Given the description of an element on the screen output the (x, y) to click on. 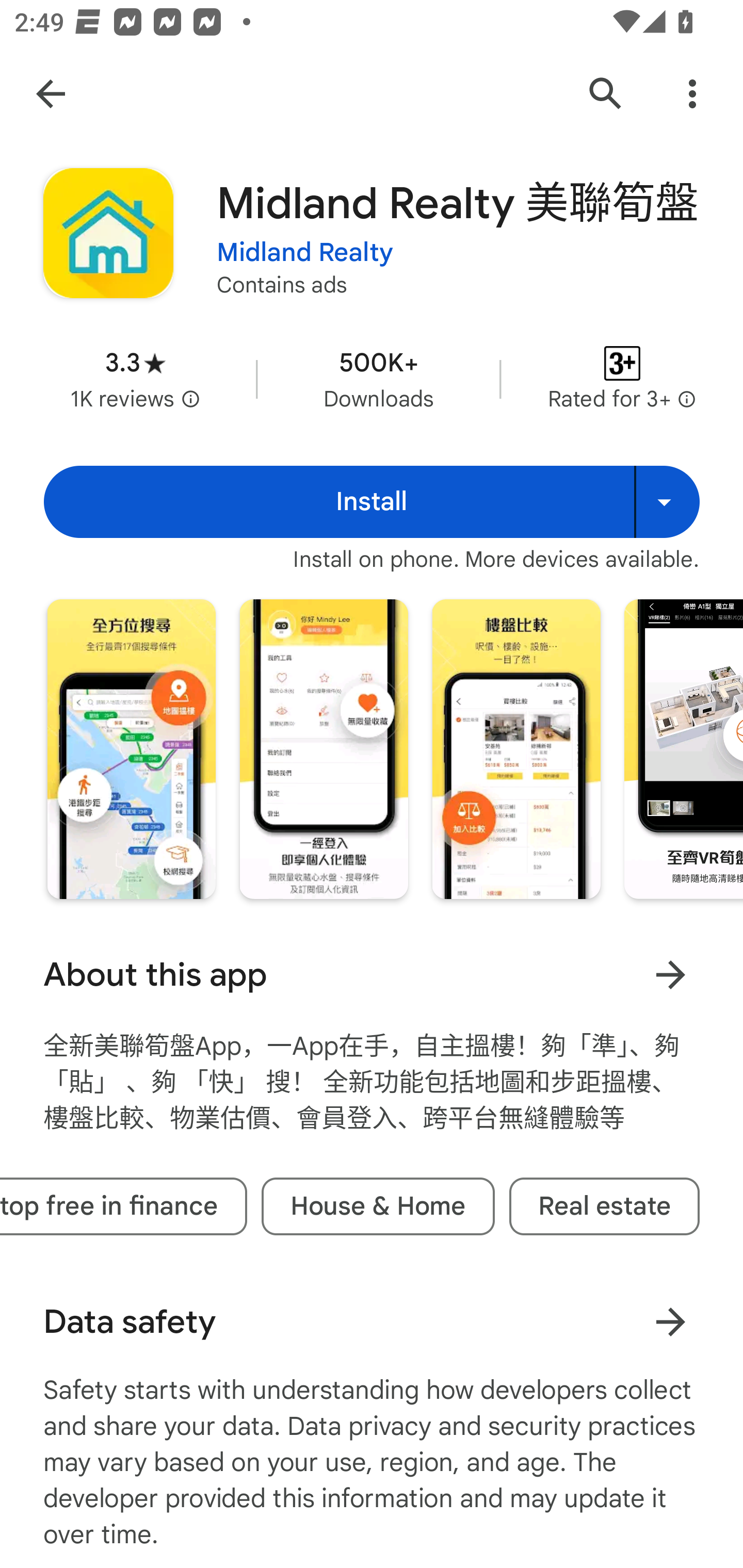
Navigate up (50, 93)
Search Google Play (605, 93)
More Options (692, 93)
Midland Realty (304, 253)
Average rating 3.3 stars in 1 thousand reviews (135, 379)
Content rating Rated for 3+ (622, 379)
Install Install Install on more devices (371, 501)
Install on more devices (667, 501)
Screenshot "1" of "7" (130, 748)
Screenshot "2" of "7" (323, 748)
Screenshot "3" of "7" (515, 748)
About this app Learn more About this app (371, 974)
Learn more About this app (670, 974)
#5 top free in finance tag (123, 1206)
House & Home tag (377, 1206)
Real estate tag (603, 1206)
Data safety Learn more about data safety (371, 1321)
Learn more about data safety (670, 1321)
